Given the description of an element on the screen output the (x, y) to click on. 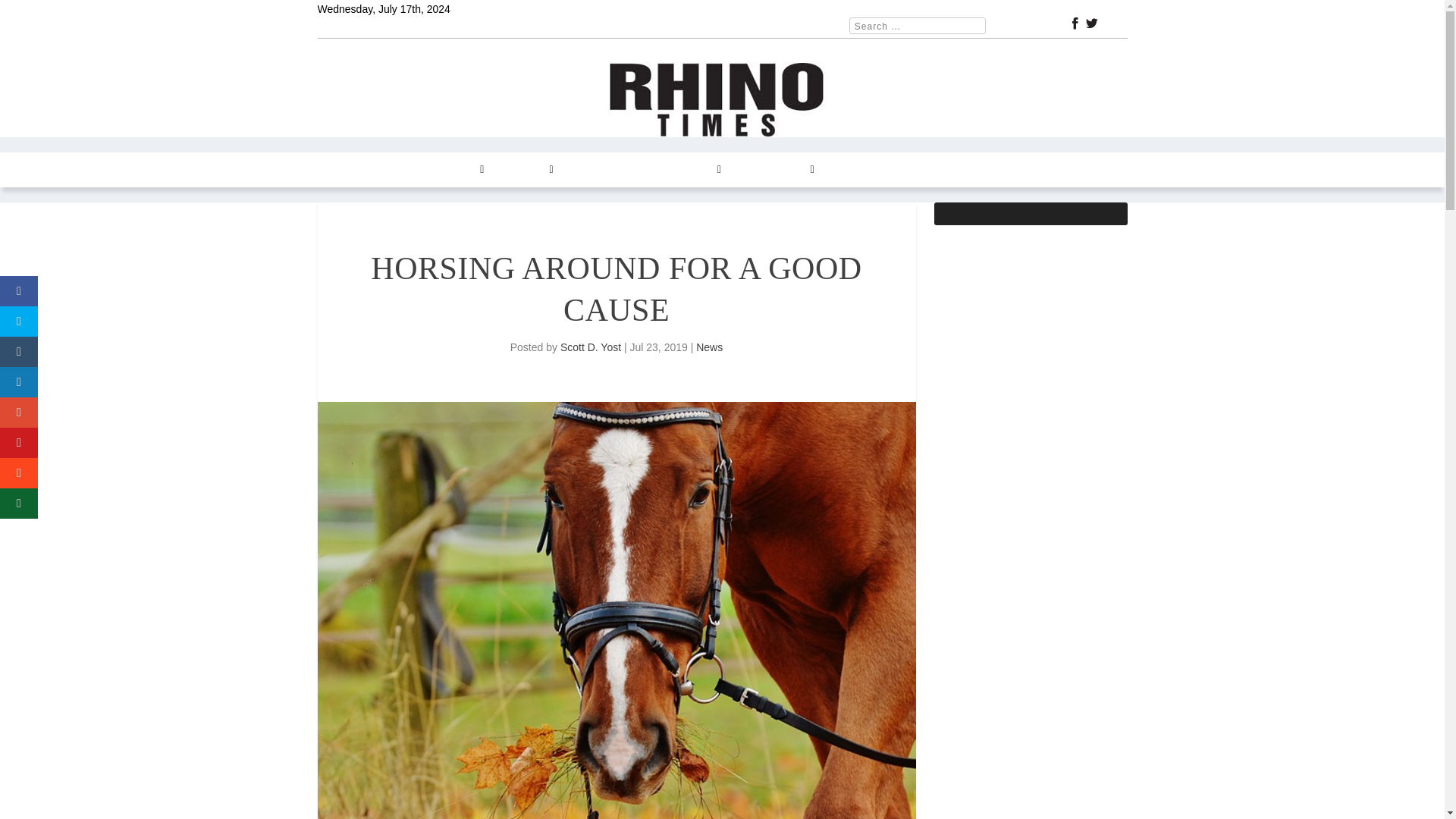
NEWS (390, 169)
Posts by Scott D. Yost (590, 346)
Search (31, 13)
HOME (342, 169)
OBITUARIES (935, 169)
CONTACT US (775, 169)
COLUMNS (453, 169)
ARCHIVES (689, 169)
REAL ESTATE (606, 169)
OPINION (526, 169)
ABOUT US (858, 169)
